Given the description of an element on the screen output the (x, y) to click on. 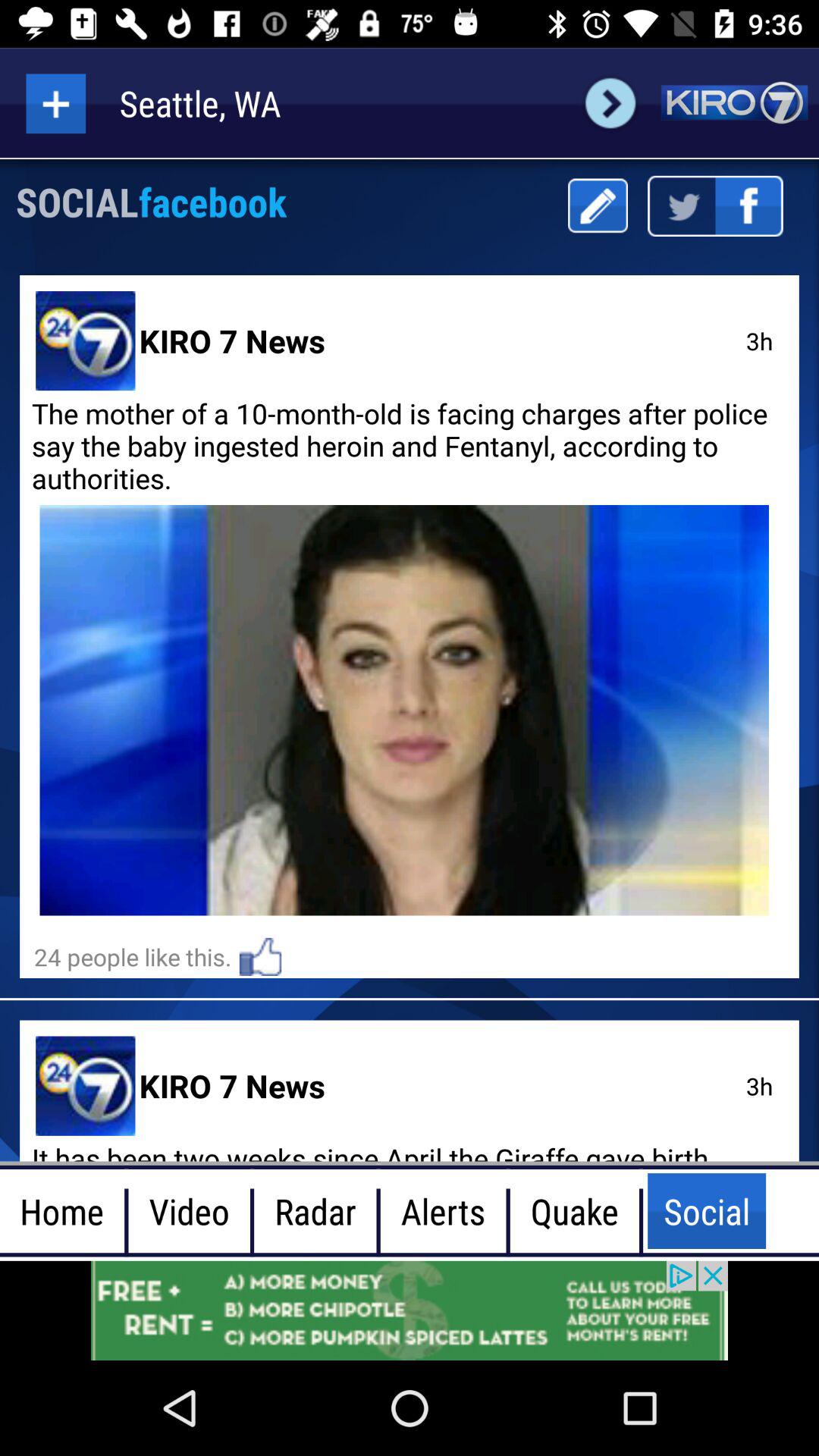
kiro (734, 103)
